Given the description of an element on the screen output the (x, y) to click on. 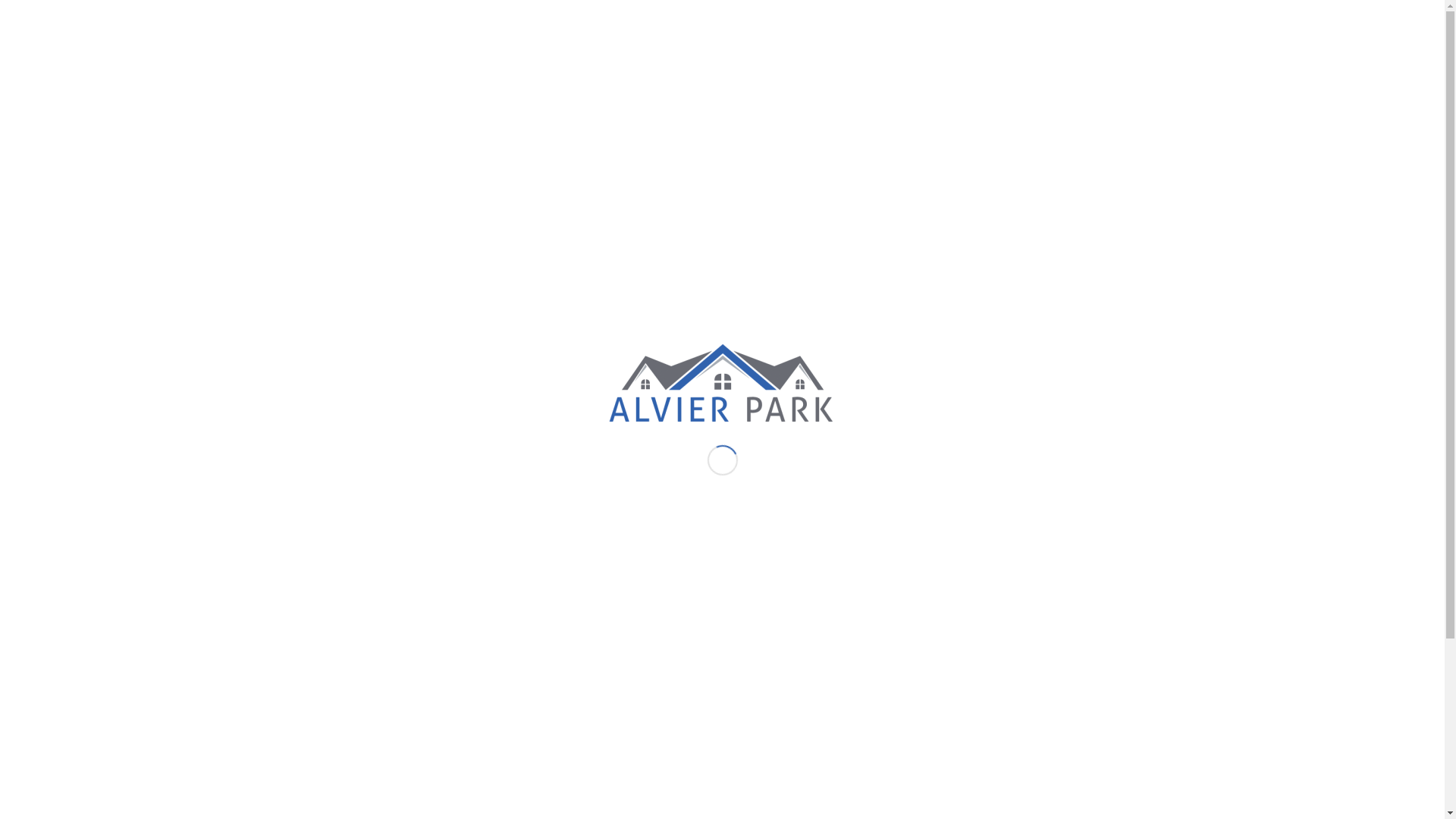
info@alvierpark.ch Element type: text (416, 10)
alvierpark_sevelen_mietwohnungen_slide_2 Element type: hover (479, 316)
Lage Element type: text (906, 56)
Kontakt Element type: text (1123, 56)
Mietwohnungen Element type: text (836, 56)
Impressionen Element type: text (968, 56)
Startseite Element type: text (1096, 112)
Loading Element type: hover (721, 386)
Home Element type: text (765, 56)
alvierpark_sevelen_mietwohnungen_slide_4 Element type: hover (479, 611)
Baubeschrieb Element type: text (302, 111)
Baubeschrieb Element type: text (1052, 56)
